Given the description of an element on the screen output the (x, y) to click on. 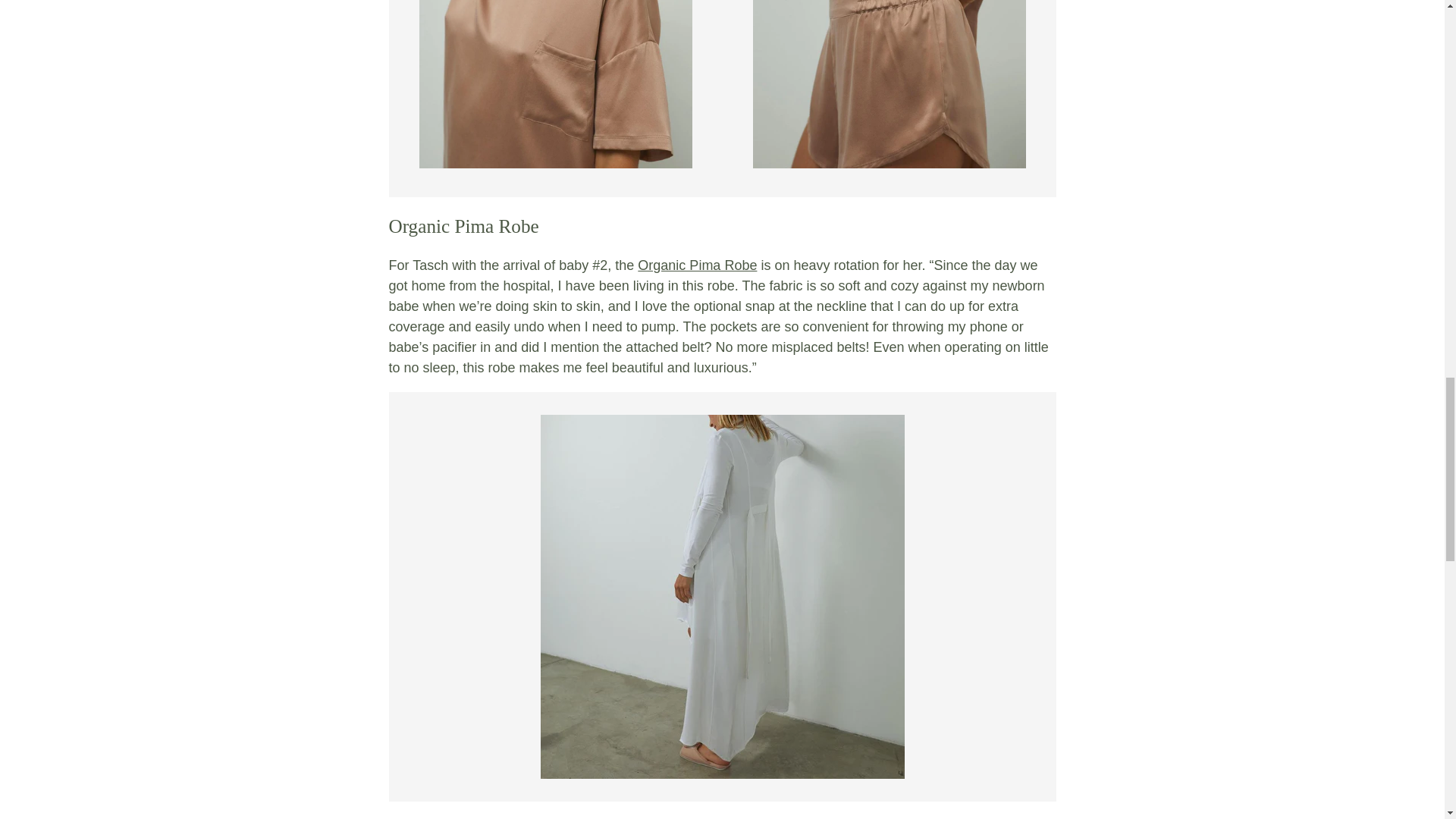
organic full length robe in white (697, 264)
